Given the description of an element on the screen output the (x, y) to click on. 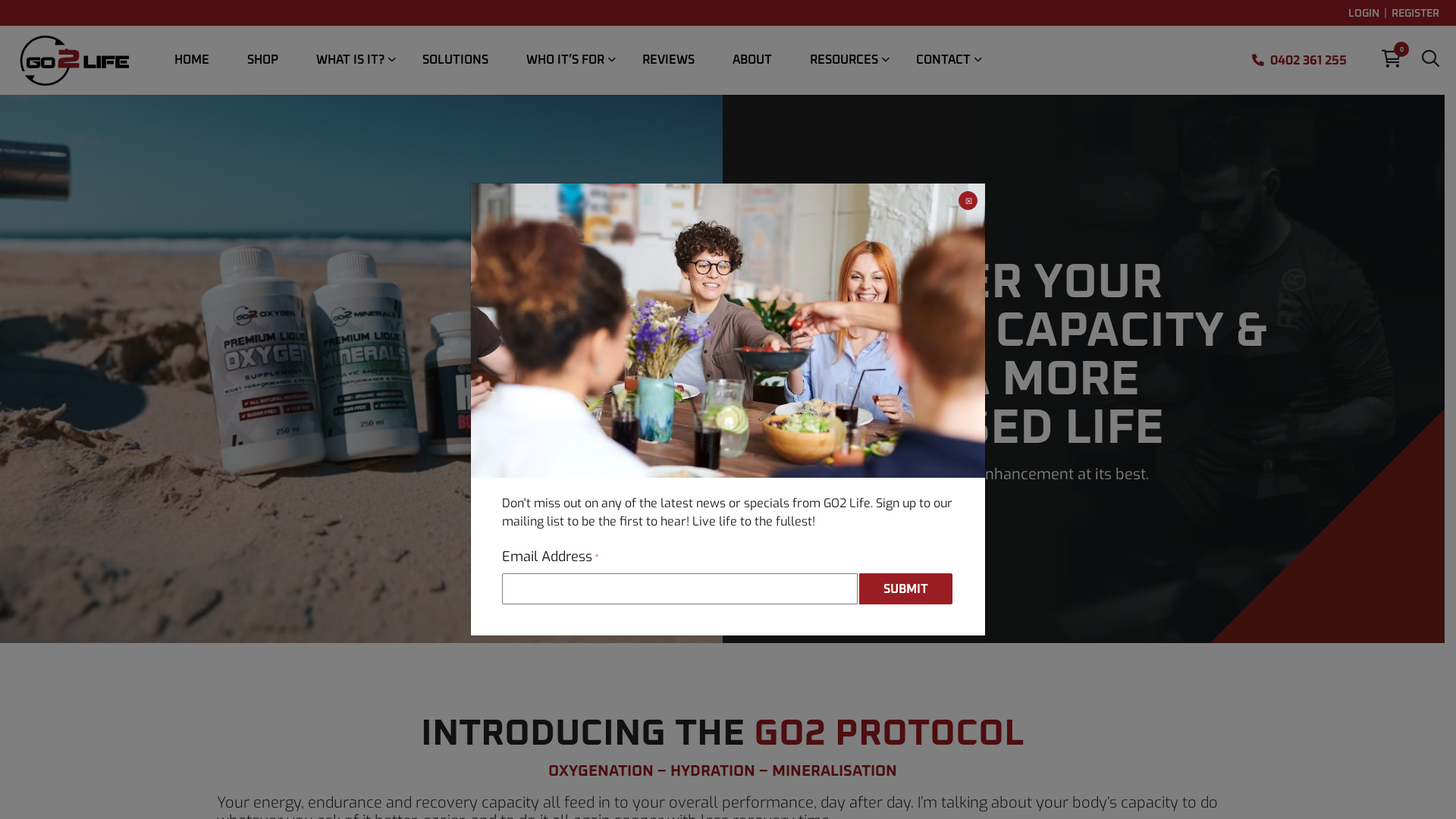
CONTACT Element type: text (943, 59)
0 Element type: text (1391, 60)
WHAT IS IT? Element type: text (350, 59)
HOME Element type: text (191, 59)
Submit Element type: text (905, 588)
ABOUT Element type: text (751, 59)
REVIEWS Element type: text (668, 59)
SHOP Element type: text (262, 59)
RESOURCES Element type: text (843, 59)
0402 361 255 Element type: text (1303, 60)
LOGIN Element type: text (1363, 13)
REGISTER Element type: text (1415, 13)
SOLUTIONS Element type: text (455, 59)
